Given the description of an element on the screen output the (x, y) to click on. 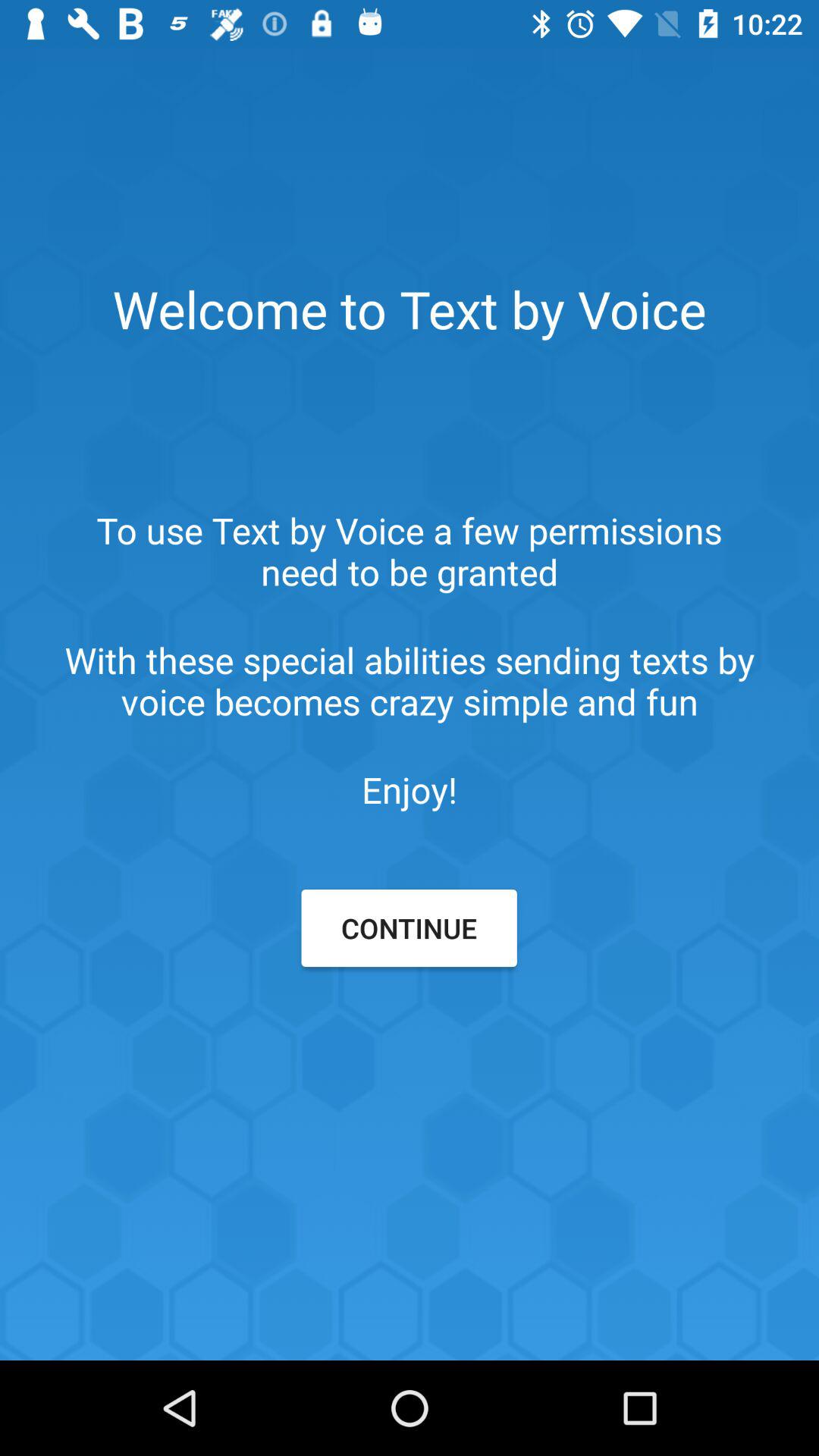
turn on item below enjoy! (408, 927)
